Given the description of an element on the screen output the (x, y) to click on. 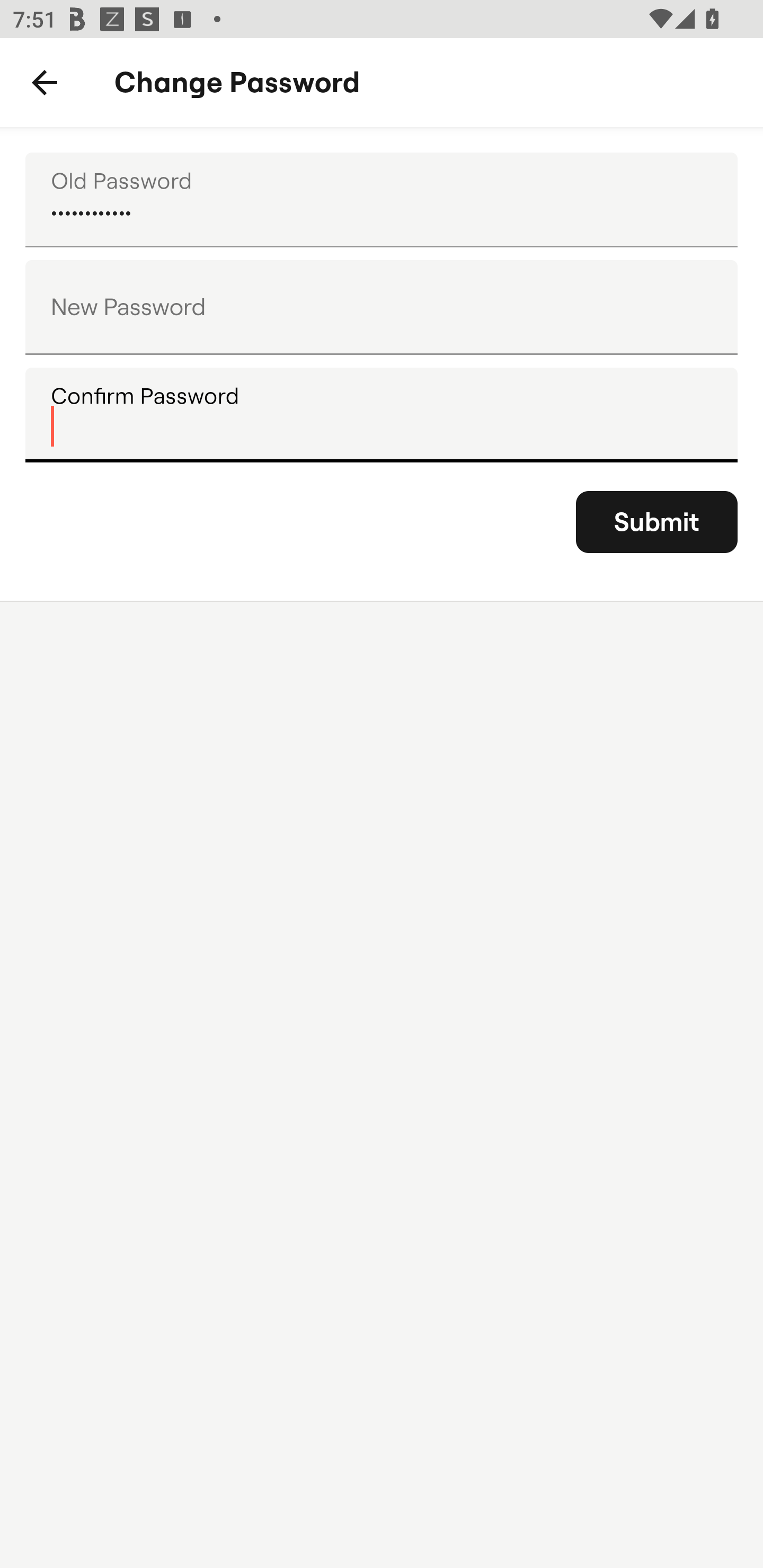
Back (44, 82)
Taylor Swift (381, 199)
New Password (381, 307)
Confirm Password (381, 414)
Submit (656, 521)
